Given the description of an element on the screen output the (x, y) to click on. 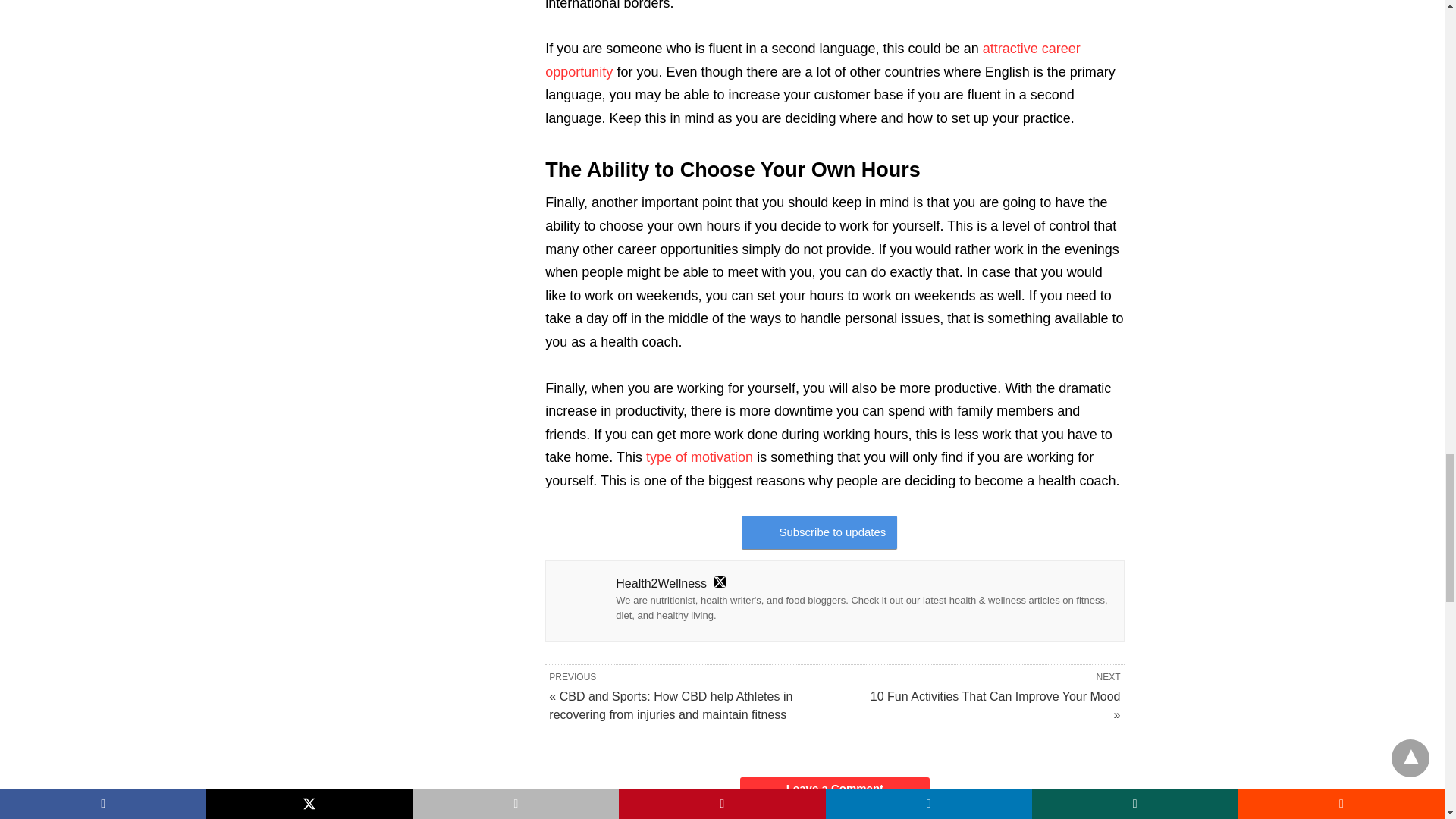
type of motivation (699, 457)
attractive career opportunity (812, 59)
Subscribe to updates (818, 531)
Leave a Comment (834, 788)
Leave a Comment (834, 788)
